Given the description of an element on the screen output the (x, y) to click on. 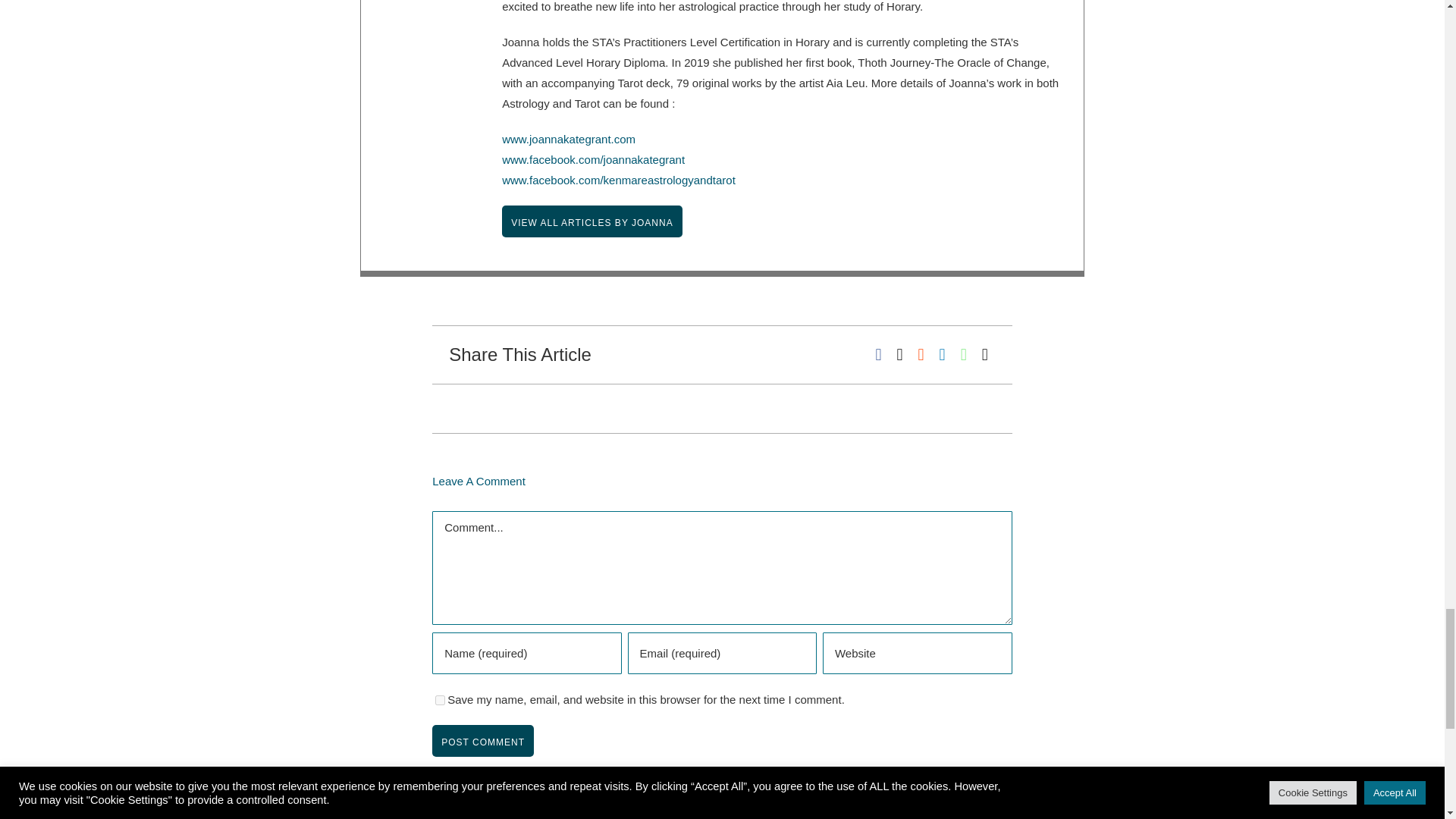
yes (440, 700)
Post Comment (483, 740)
